Given the description of an element on the screen output the (x, y) to click on. 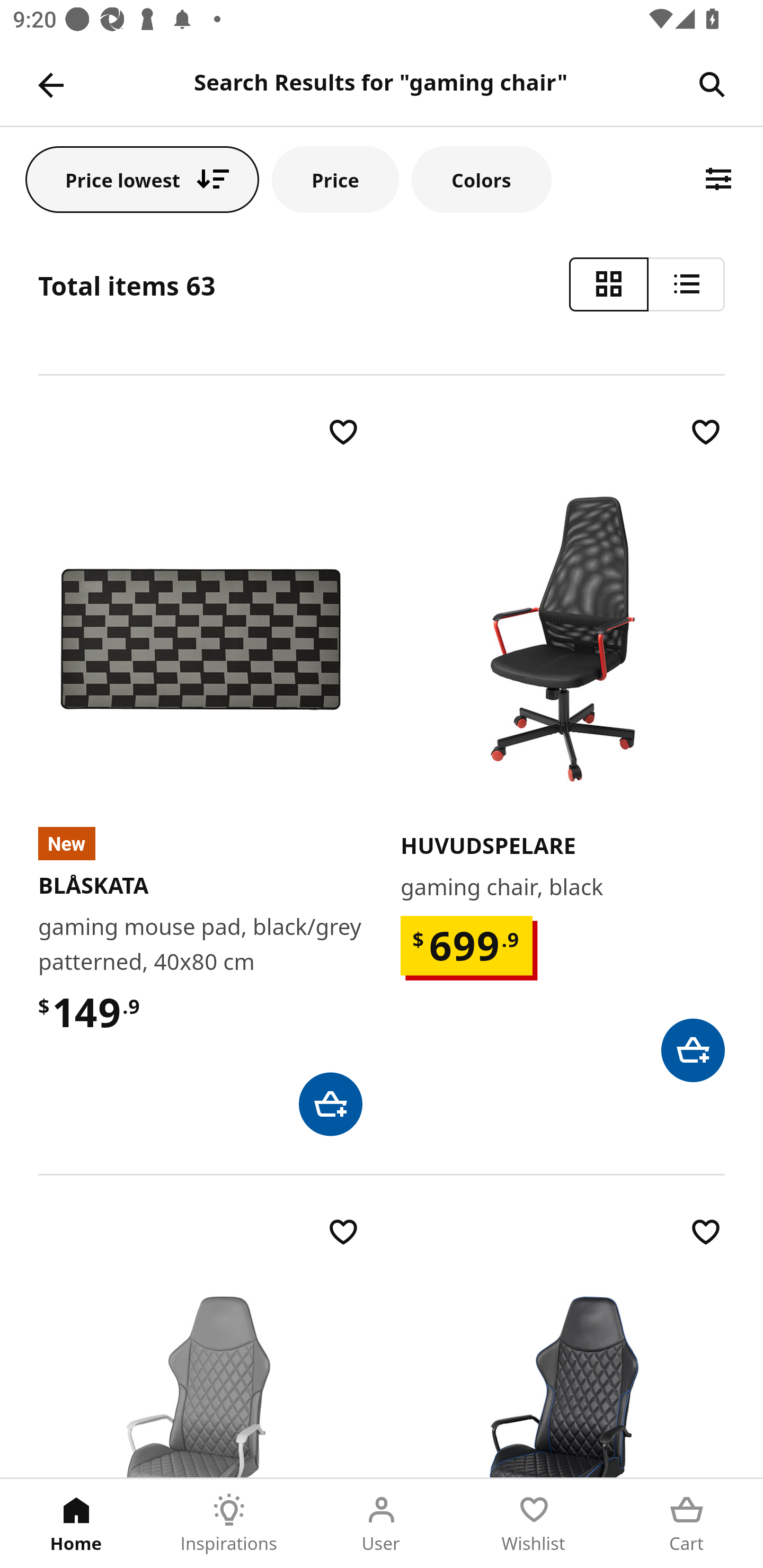
Price lowest (142, 179)
Price (335, 179)
Colors (481, 179)
Home
Tab 1 of 5 (76, 1522)
Inspirations
Tab 2 of 5 (228, 1522)
User
Tab 3 of 5 (381, 1522)
Wishlist
Tab 4 of 5 (533, 1522)
Cart
Tab 5 of 5 (686, 1522)
